Given the description of an element on the screen output the (x, y) to click on. 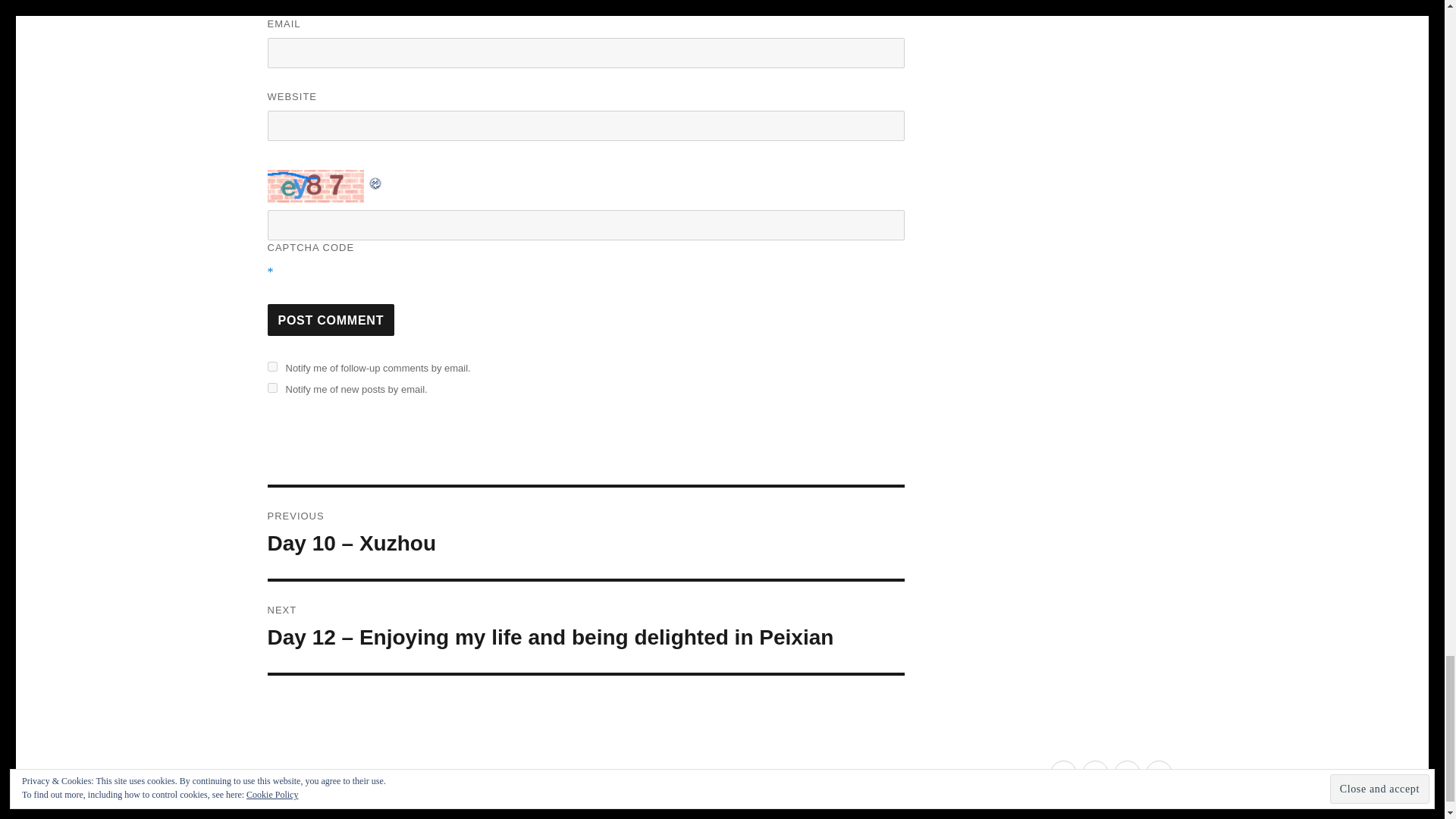
CAPTCHA (316, 185)
Post Comment (330, 319)
Post Comment (330, 319)
subscribe (271, 388)
Refresh (375, 179)
subscribe (271, 366)
